Given the description of an element on the screen output the (x, y) to click on. 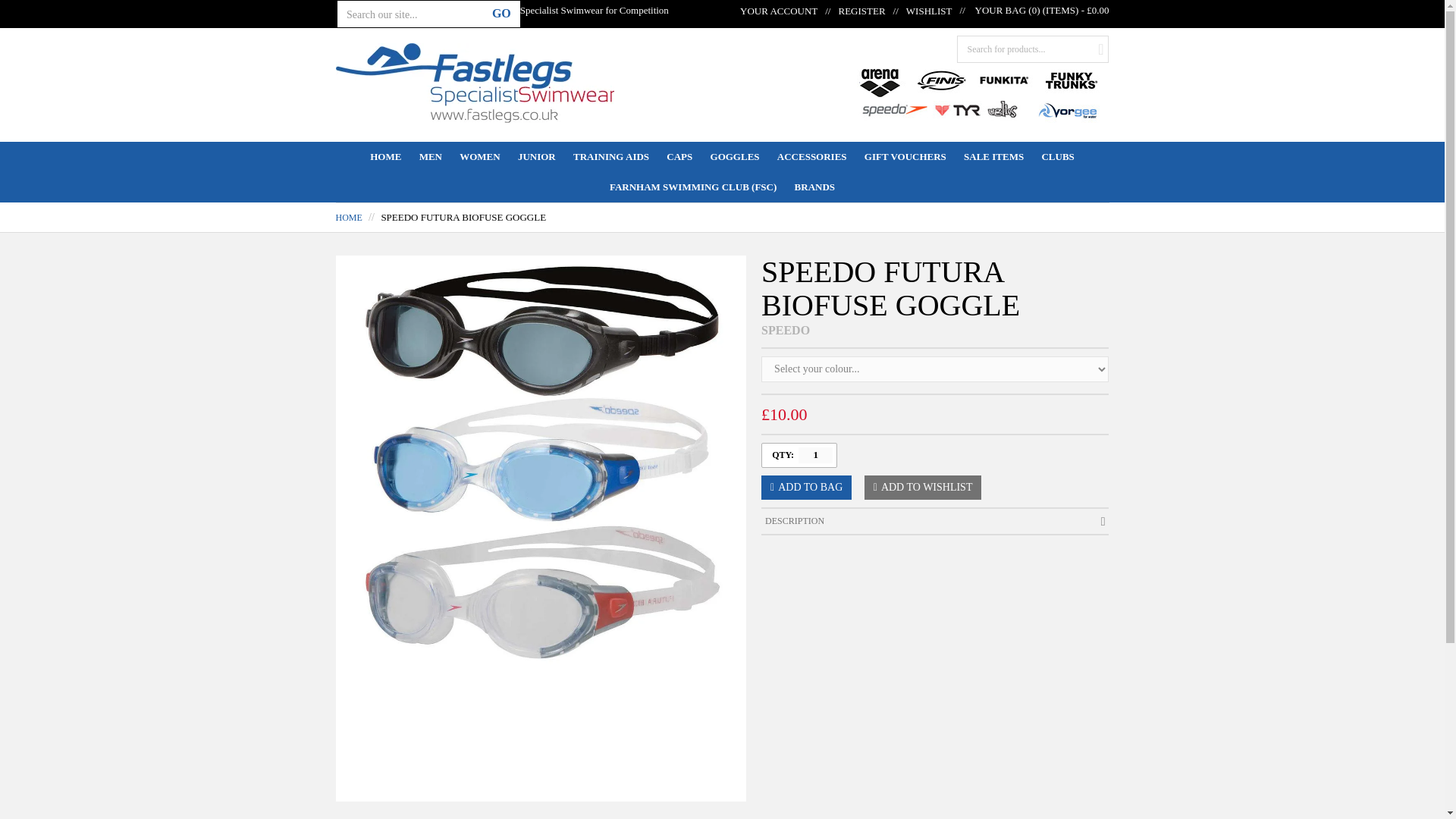
ACCESSORIES (811, 156)
HOME (384, 156)
WISHLIST (918, 11)
CAPS (678, 156)
1 (814, 455)
GOGGLES (735, 156)
REGISTER (850, 11)
YOUR ACCOUNT (777, 11)
WOMEN (479, 156)
TRAINING AIDS (611, 156)
